Given the description of an element on the screen output the (x, y) to click on. 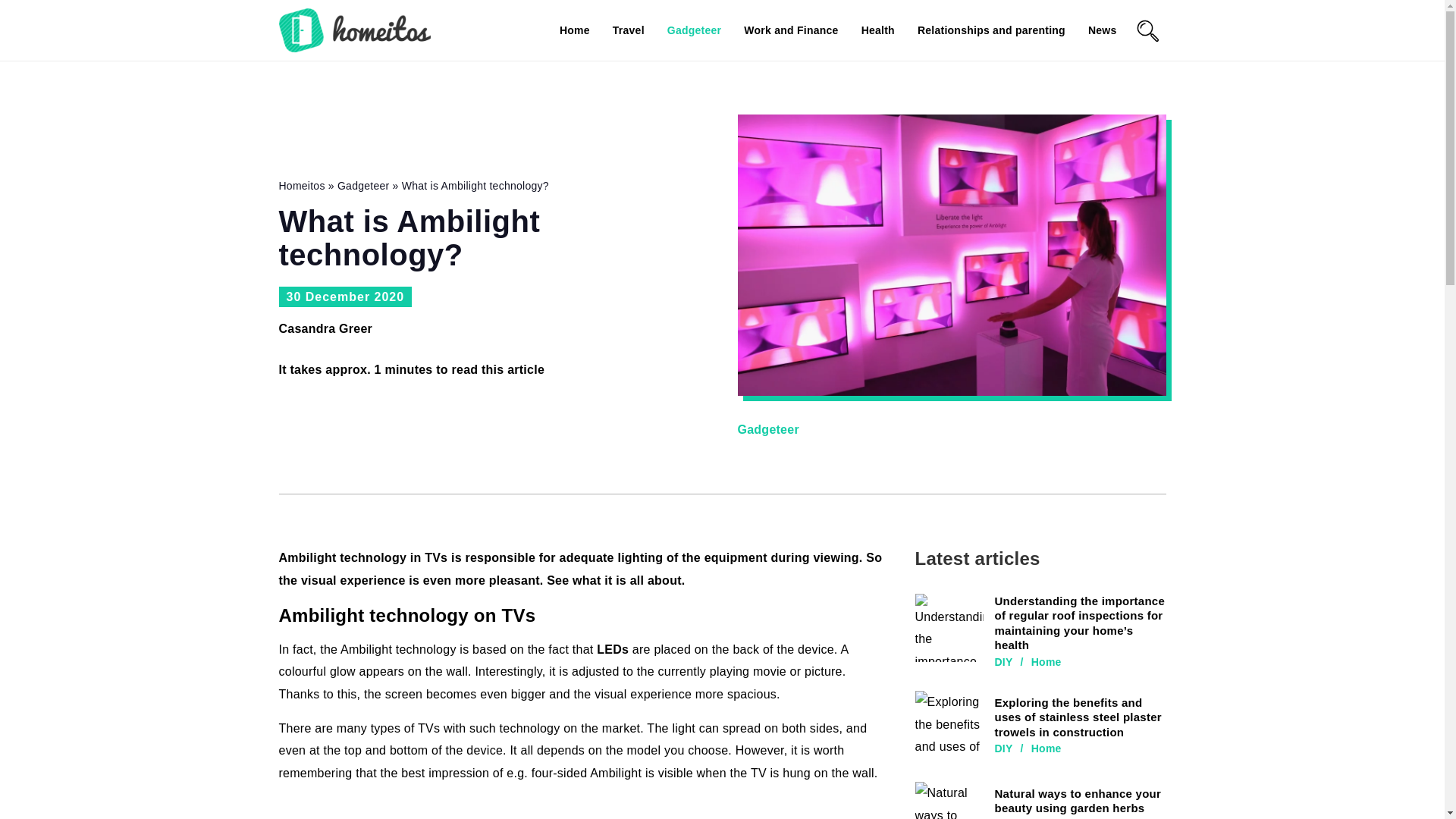
Casandra Greer (325, 328)
News (1101, 29)
Relationships and parenting (991, 29)
Travel (628, 29)
Work and Finance (791, 29)
Home (574, 29)
Gadgeteer (694, 29)
Gadgeteer (766, 429)
Health (878, 29)
